Given the description of an element on the screen output the (x, y) to click on. 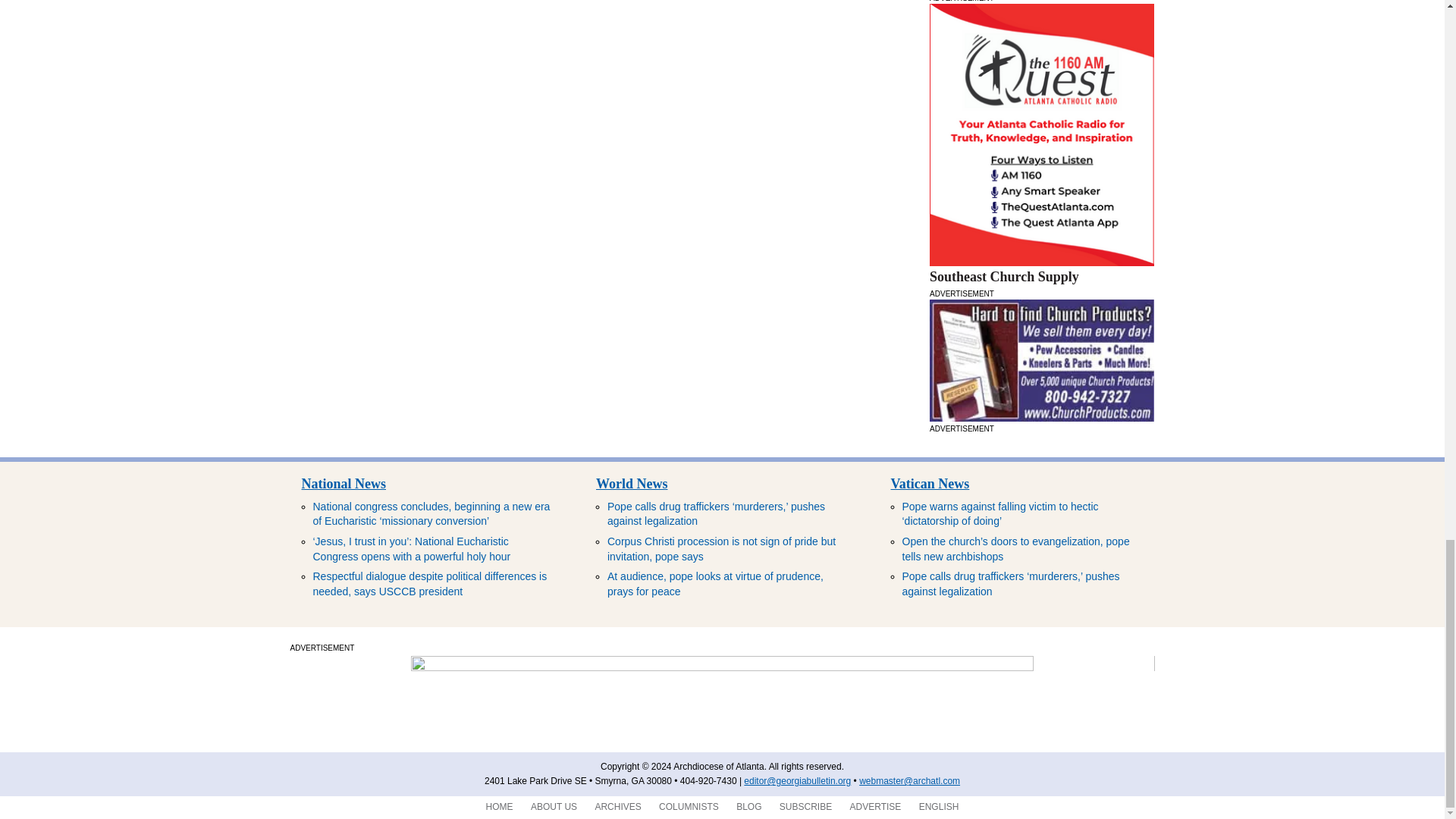
English (938, 807)
